Given the description of an element on the screen output the (x, y) to click on. 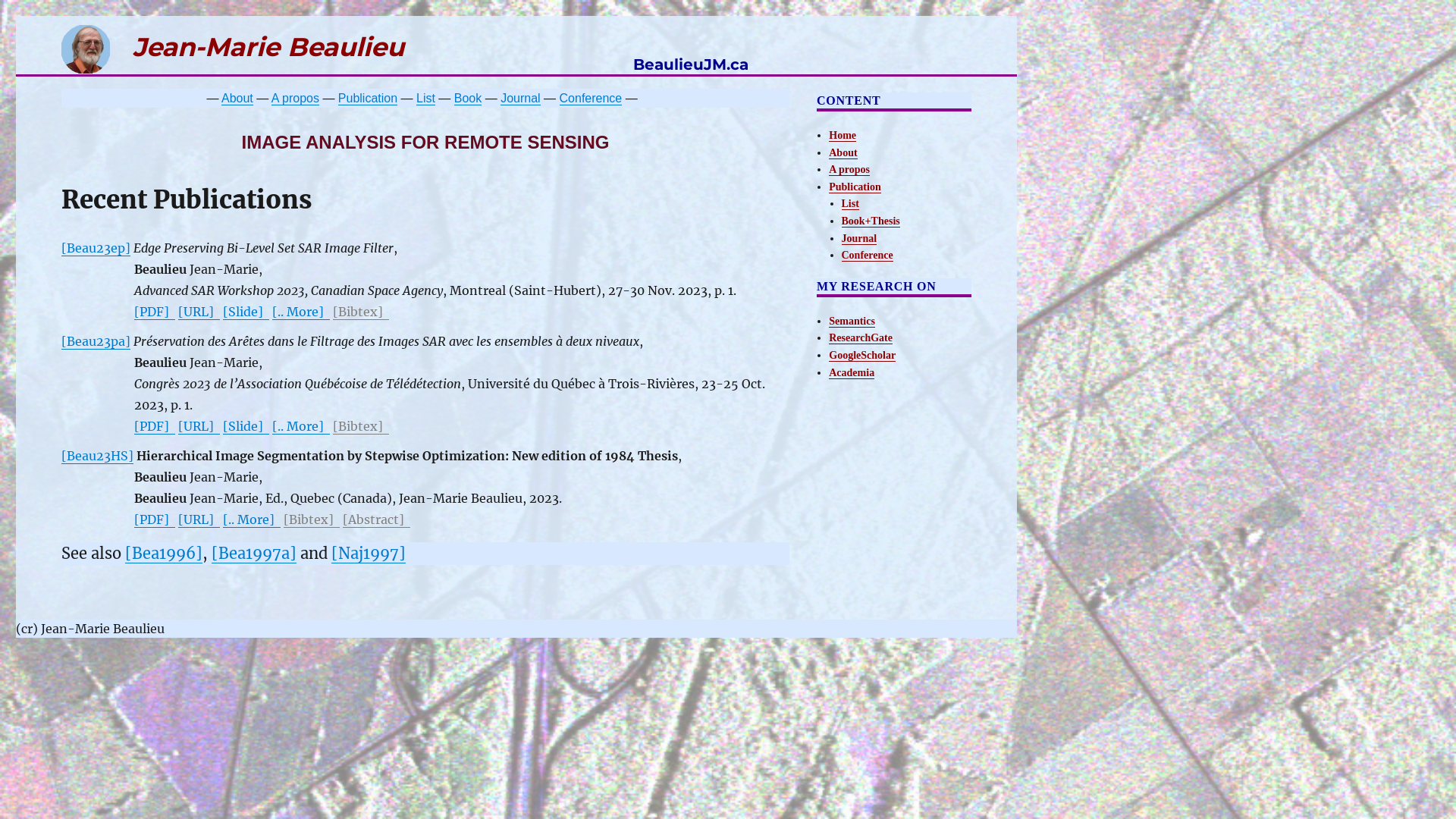
[PDF]   Element type: text (154, 311)
List Element type: text (425, 97)
[.. More]   Element type: text (251, 519)
Conference Element type: text (590, 97)
[Slide]   Element type: text (245, 311)
[URL]   Element type: text (198, 425)
Publication Element type: text (854, 186)
[.. More]   Element type: text (300, 425)
GoogleScholar Element type: text (861, 354)
Home Element type: text (842, 135)
[Slide]   Element type: text (245, 425)
[Bea1996] Element type: text (163, 552)
Journal Element type: text (859, 238)
ResearchGate Element type: text (860, 337)
[Beau23HS] Element type: text (97, 455)
Publication Element type: text (367, 97)
A propos Element type: text (848, 169)
  Jean-Marie Beaulieu Element type: text (232, 44)
Book+Thesis Element type: text (870, 220)
[Bea1997a] Element type: text (253, 552)
[Bibtex]   Element type: text (360, 311)
[URL]   Element type: text (198, 311)
List Element type: text (850, 203)
Academia Element type: text (851, 372)
[URL]   Element type: text (198, 519)
[Naj1997] Element type: text (368, 552)
Semantics Element type: text (851, 320)
[PDF]   Element type: text (154, 425)
Journal Element type: text (519, 97)
[Bibtex]   Element type: text (360, 425)
[.. More]   Element type: text (300, 311)
[PDF]   Element type: text (154, 519)
[Beau23ep] Element type: text (95, 247)
BeaulieuJM.ca Element type: text (690, 60)
[Beau23pa] Element type: text (95, 340)
About Element type: text (842, 152)
About Element type: text (237, 97)
[Bibtex]   Element type: text (311, 519)
[Abstract]   Element type: text (376, 519)
A propos Element type: text (295, 97)
Book Element type: text (467, 97)
Conference Element type: text (867, 254)
